Given the description of an element on the screen output the (x, y) to click on. 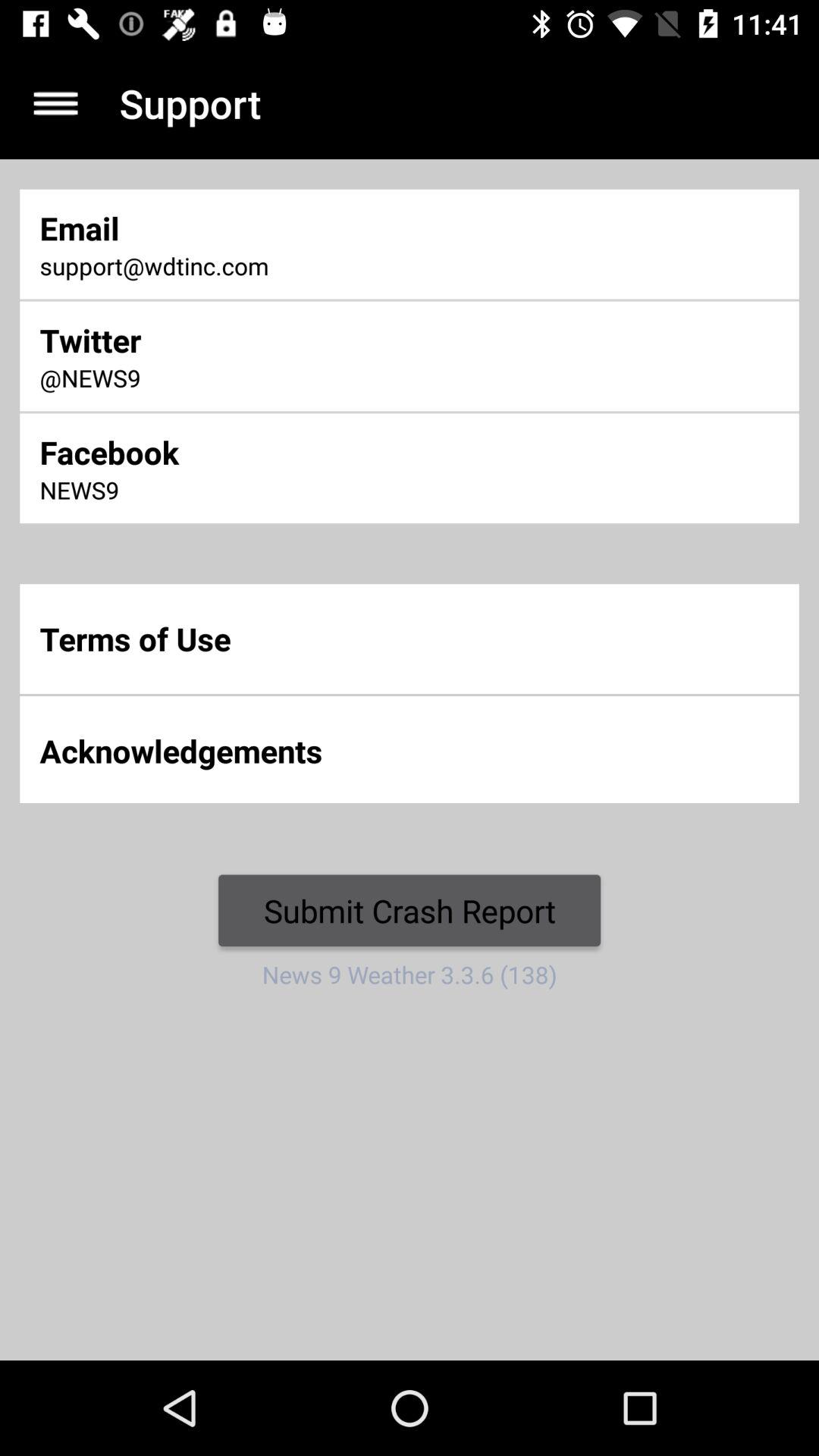
scroll to the support@wdtinc.com item (270, 267)
